Given the description of an element on the screen output the (x, y) to click on. 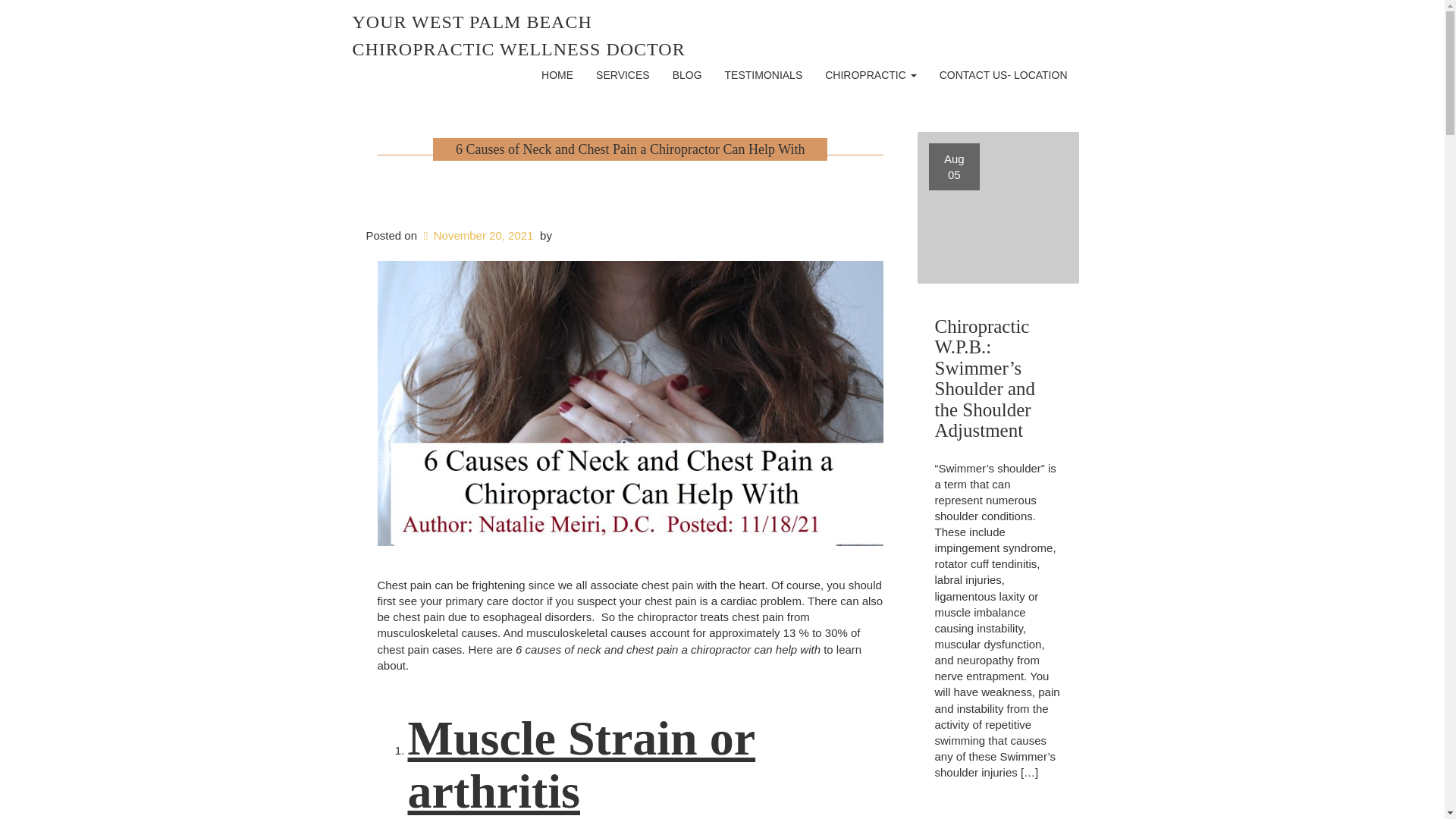
HOME (557, 75)
TESTIMONIALS (763, 75)
YOUR WEST PALM BEACH CHIROPRACTIC WELLNESS DOCTOR (518, 35)
BLOG (687, 75)
6 Causes of Neck and Chest Pain a Chiropractor Can Help With (997, 207)
CONTACT US- LOCATION (629, 149)
November 20, 2021 (1003, 75)
CHIROPRACTIC (476, 235)
SERVICES (870, 75)
